Given the description of an element on the screen output the (x, y) to click on. 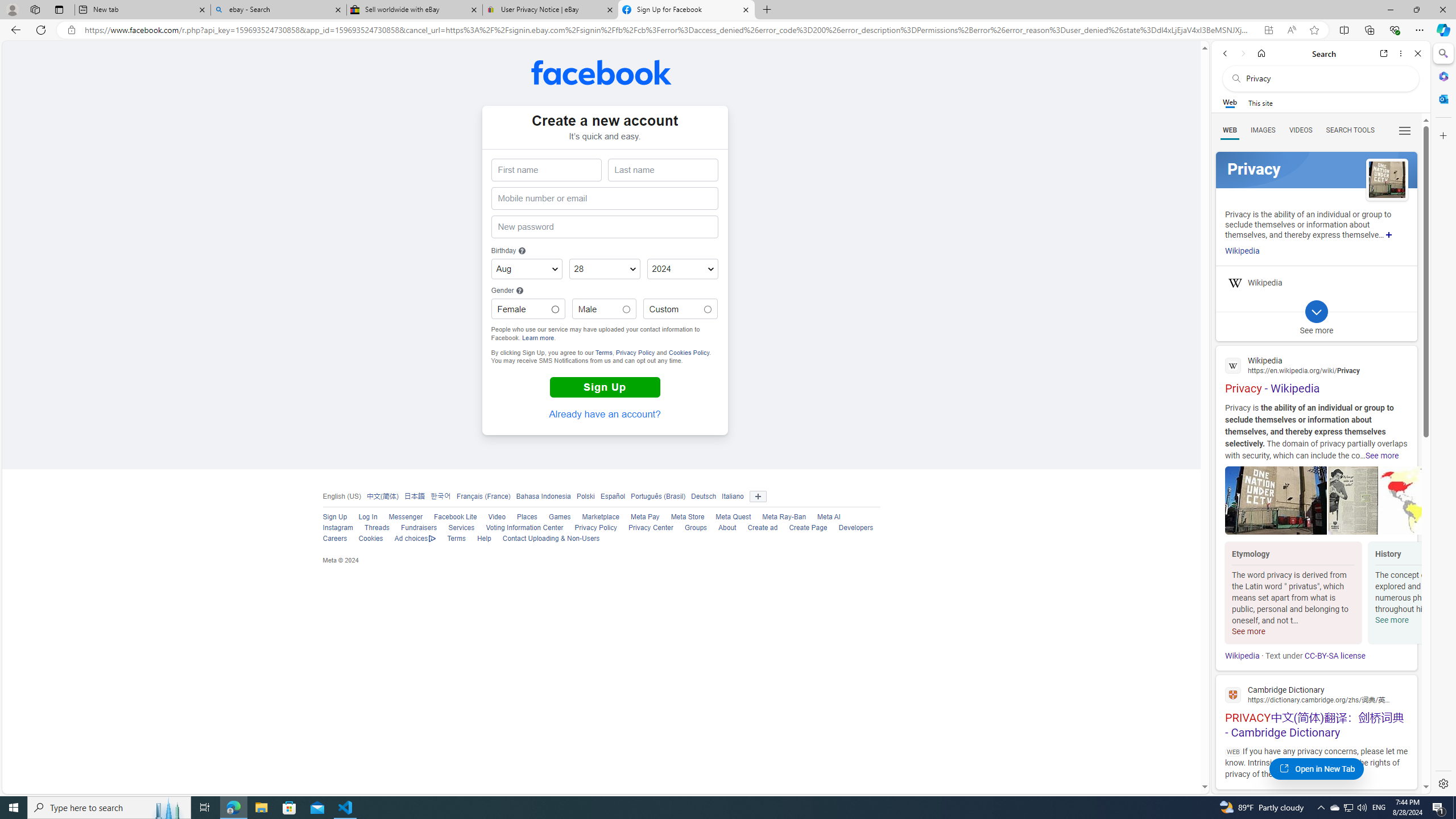
Facebook Lite (455, 516)
English (US) (341, 496)
Show more (1388, 234)
Instagram (332, 527)
Cookies Policy (689, 352)
Meta AI (828, 516)
VIDEOS (1300, 130)
Privacy Policy (590, 527)
Games (553, 517)
